Given the description of an element on the screen output the (x, y) to click on. 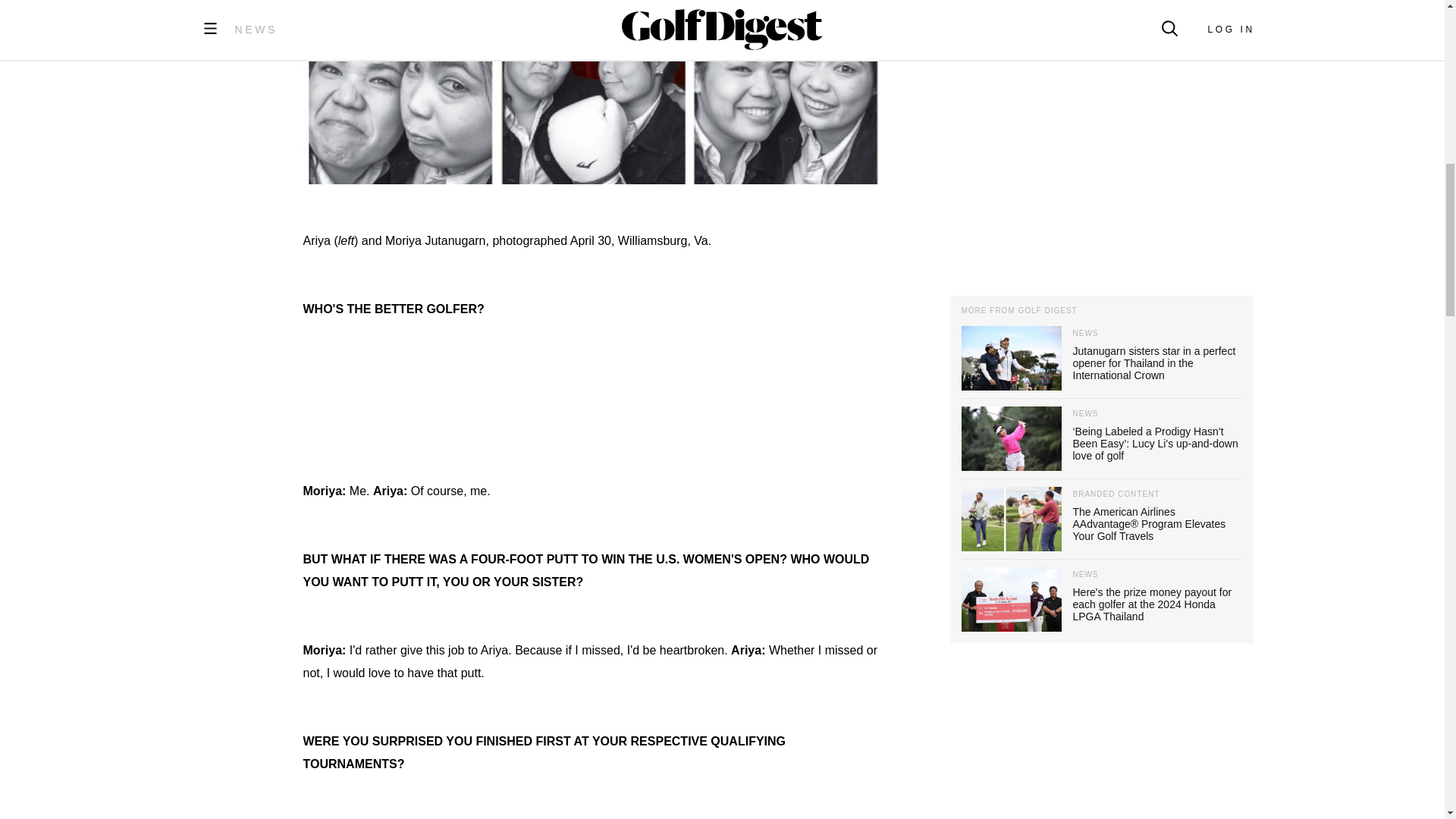
3rd party ad content (593, 400)
